Given the description of an element on the screen output the (x, y) to click on. 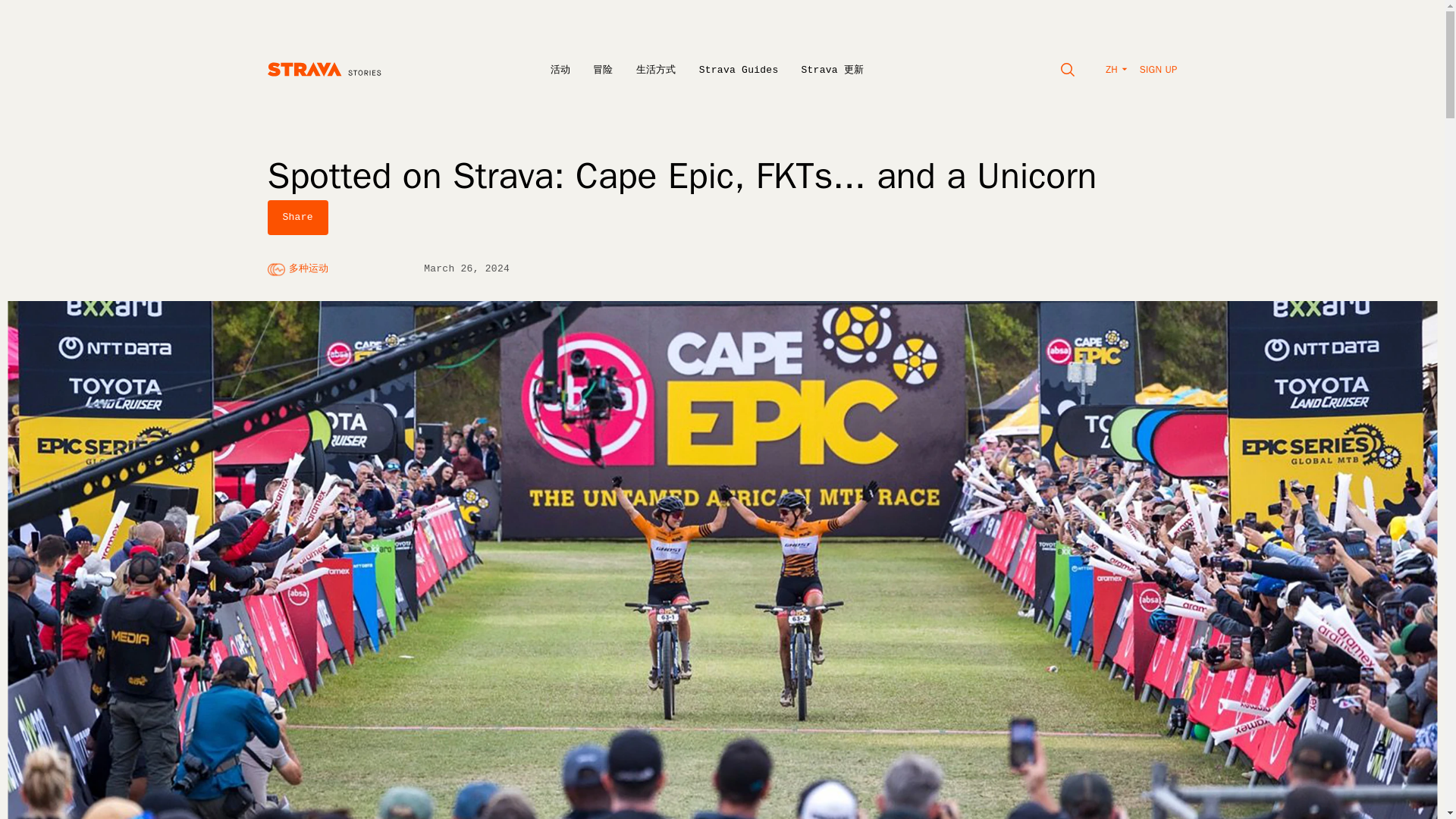
Strava Guides (738, 70)
ZH (1116, 69)
